Given the description of an element on the screen output the (x, y) to click on. 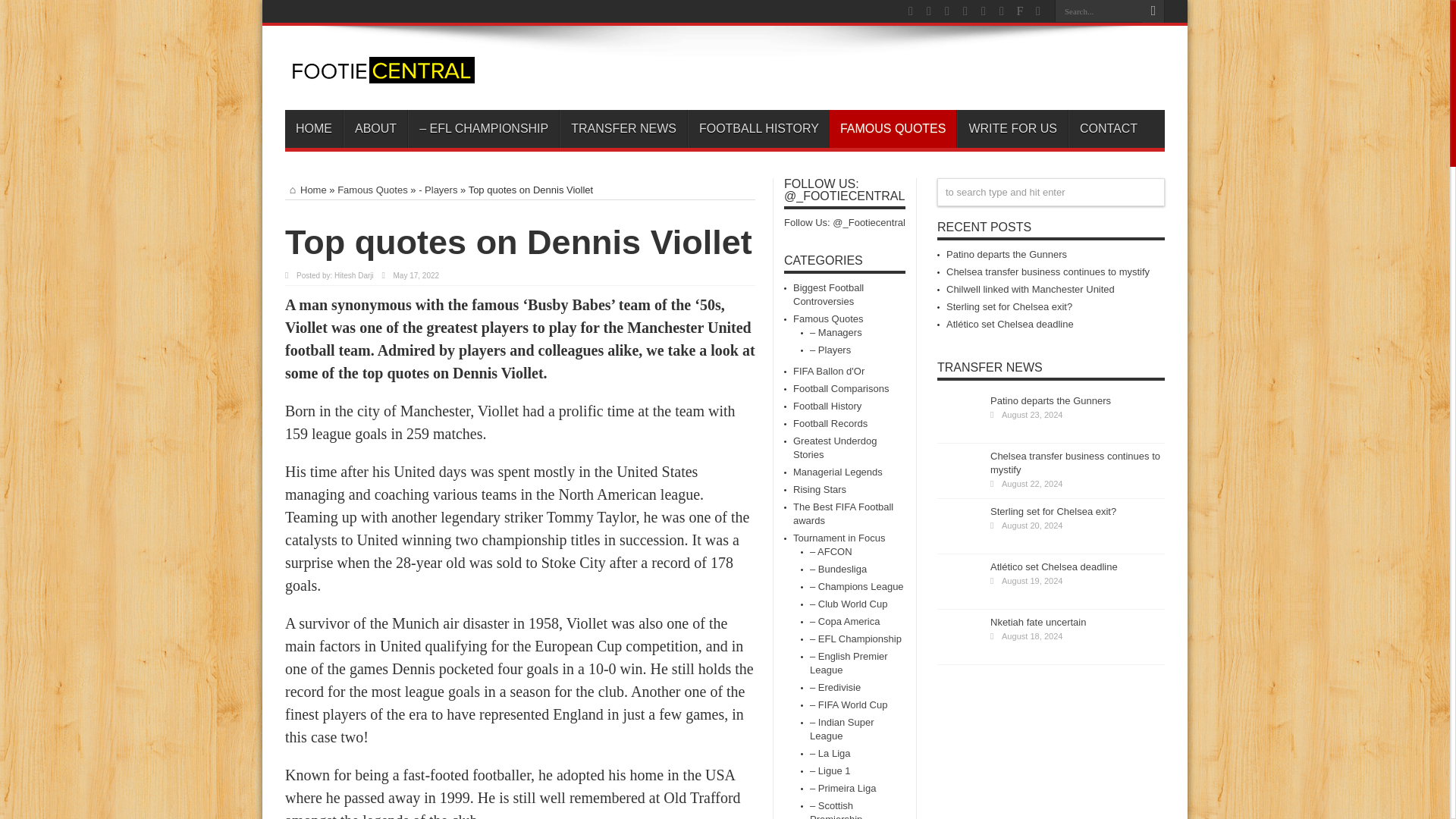
WRITE FOR US (1011, 128)
Search (1152, 11)
Famous Quotes (372, 189)
FOOTBALL HISTORY (758, 128)
FAMOUS QUOTES (892, 128)
to search type and hit enter (1050, 192)
Home (305, 189)
Hitesh Darji (354, 275)
CONTACT (1108, 128)
Search... (1097, 11)
